Given the description of an element on the screen output the (x, y) to click on. 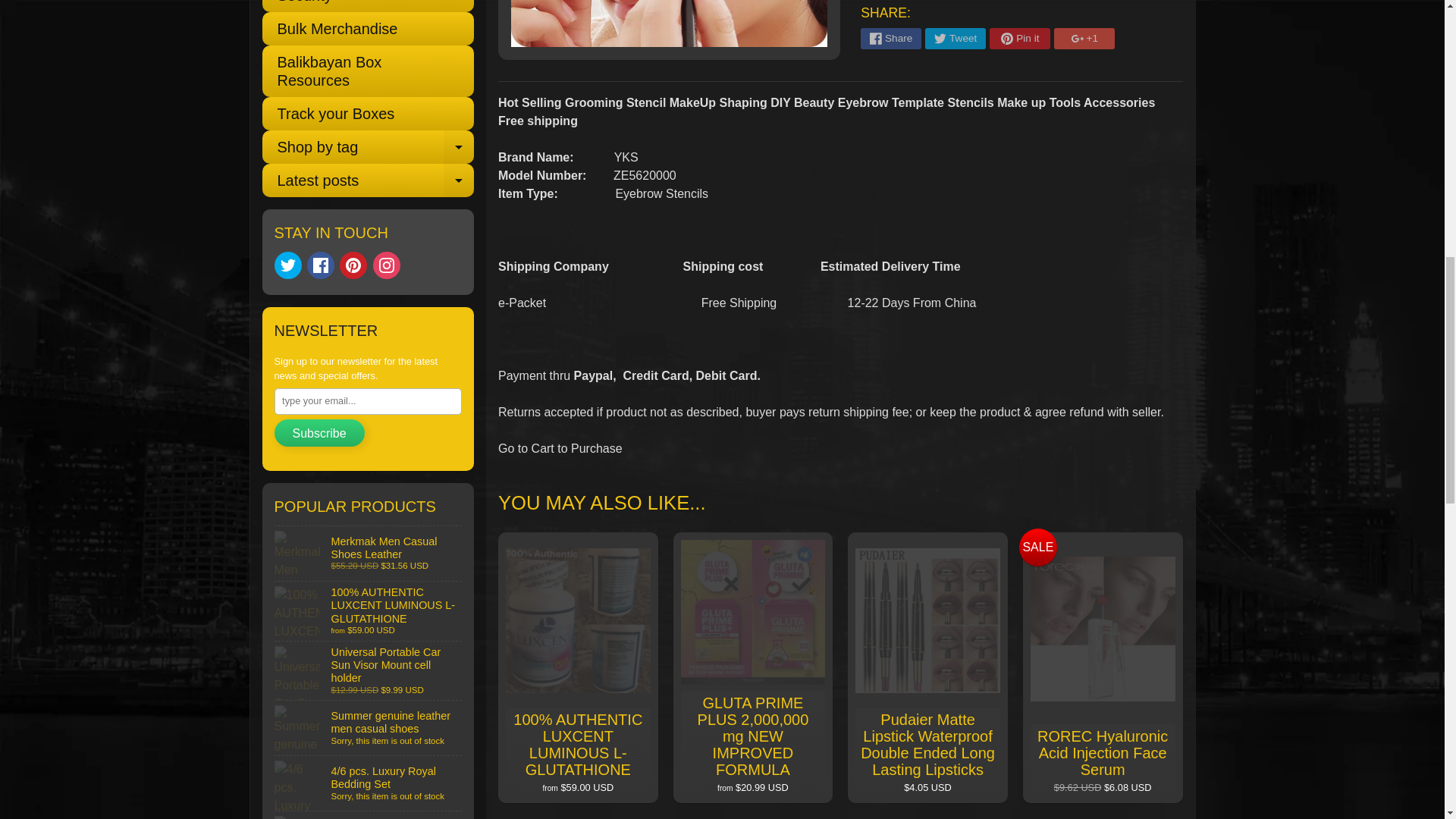
Instagram (386, 265)
Pinterest (352, 265)
Merkmak  Men Casual Shoes Leather (369, 553)
Universal Portable Car Sun Visor Mount cell holder (369, 671)
ROREC Hyaluronic Acid Injection Face Serum (369, 815)
Facebook (320, 265)
Twitter (288, 265)
Computer, Office, Security (368, 6)
Summer genuine leather men casual shoes (369, 728)
Bulk Merchandise (368, 28)
